Given the description of an element on the screen output the (x, y) to click on. 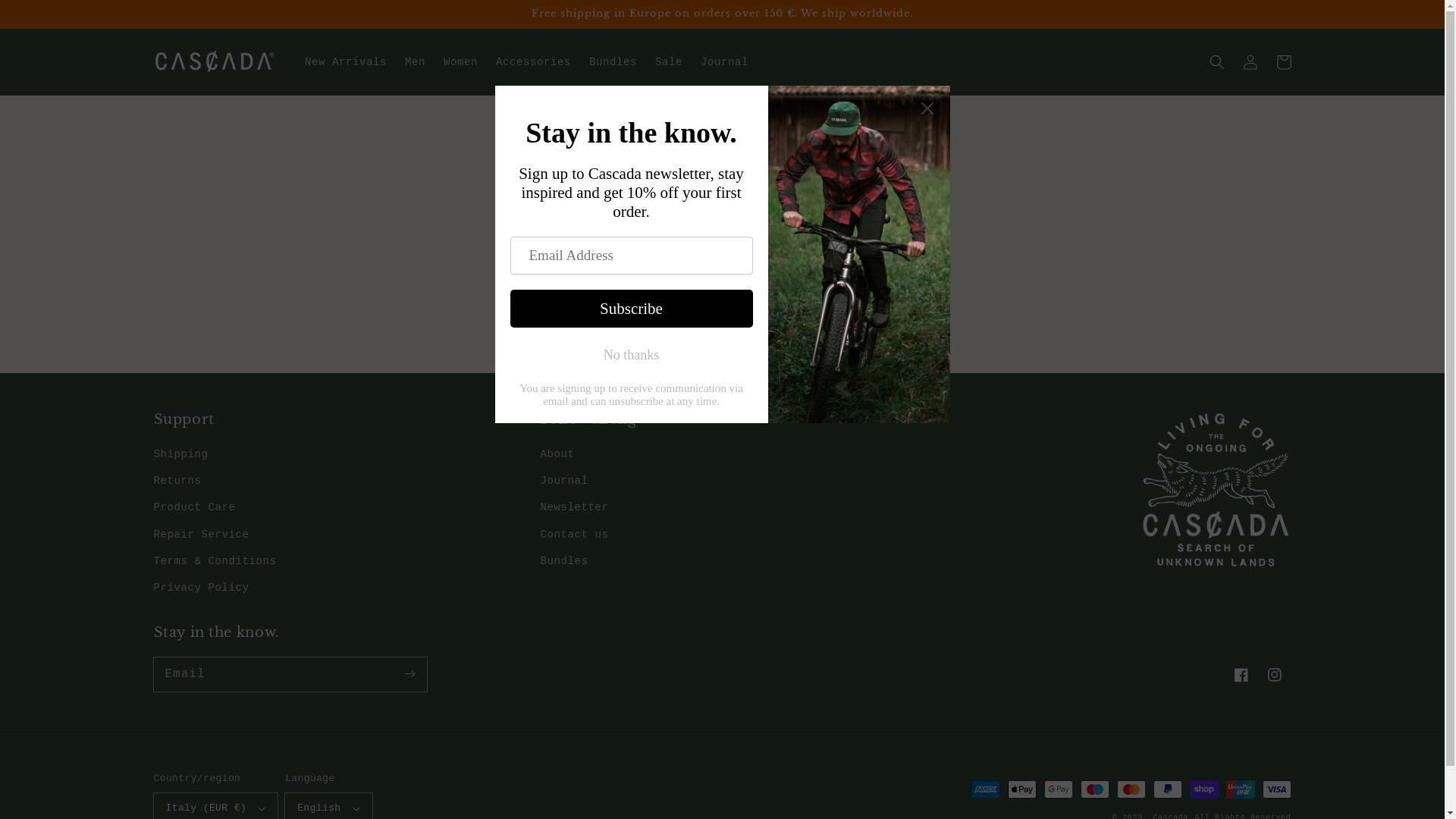
Bundles Element type: text (613, 62)
New Arrivals Element type: text (345, 62)
Continue shopping Element type: text (721, 302)
Facebook Element type: text (1240, 674)
Contact us Element type: text (573, 534)
Instagram Element type: text (1273, 674)
Shipping Element type: text (180, 456)
Returns Element type: text (176, 480)
Bundles Element type: text (563, 561)
Journal Element type: text (563, 480)
About Element type: text (556, 456)
Repair Service Element type: text (200, 534)
Cart Element type: text (1282, 61)
Women Element type: text (460, 62)
Journal Element type: text (724, 62)
Men Element type: text (414, 62)
Terms & Conditions Element type: text (214, 561)
Sale Element type: text (668, 62)
Log in Element type: text (1249, 61)
Accessories Element type: text (533, 62)
Newsletter Element type: text (573, 507)
Privacy Policy Element type: text (200, 587)
Product Care Element type: text (194, 507)
